Given the description of an element on the screen output the (x, y) to click on. 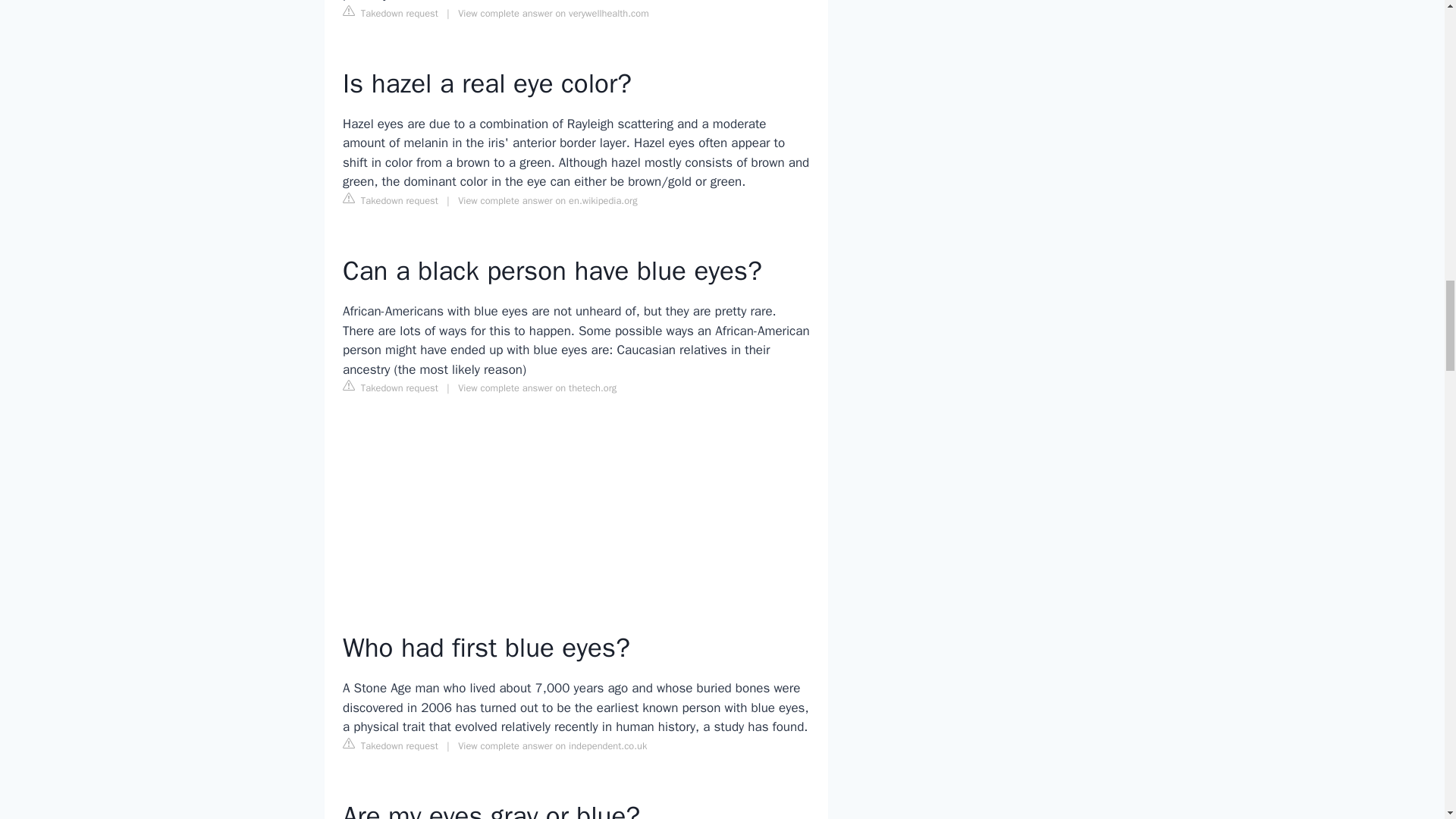
View complete answer on en.wikipedia.org (547, 200)
View complete answer on thetech.org (536, 387)
Takedown request (390, 12)
View complete answer on verywellhealth.com (552, 13)
View complete answer on independent.co.uk (552, 746)
Takedown request (390, 745)
Takedown request (390, 387)
Takedown request (390, 199)
